Given the description of an element on the screen output the (x, y) to click on. 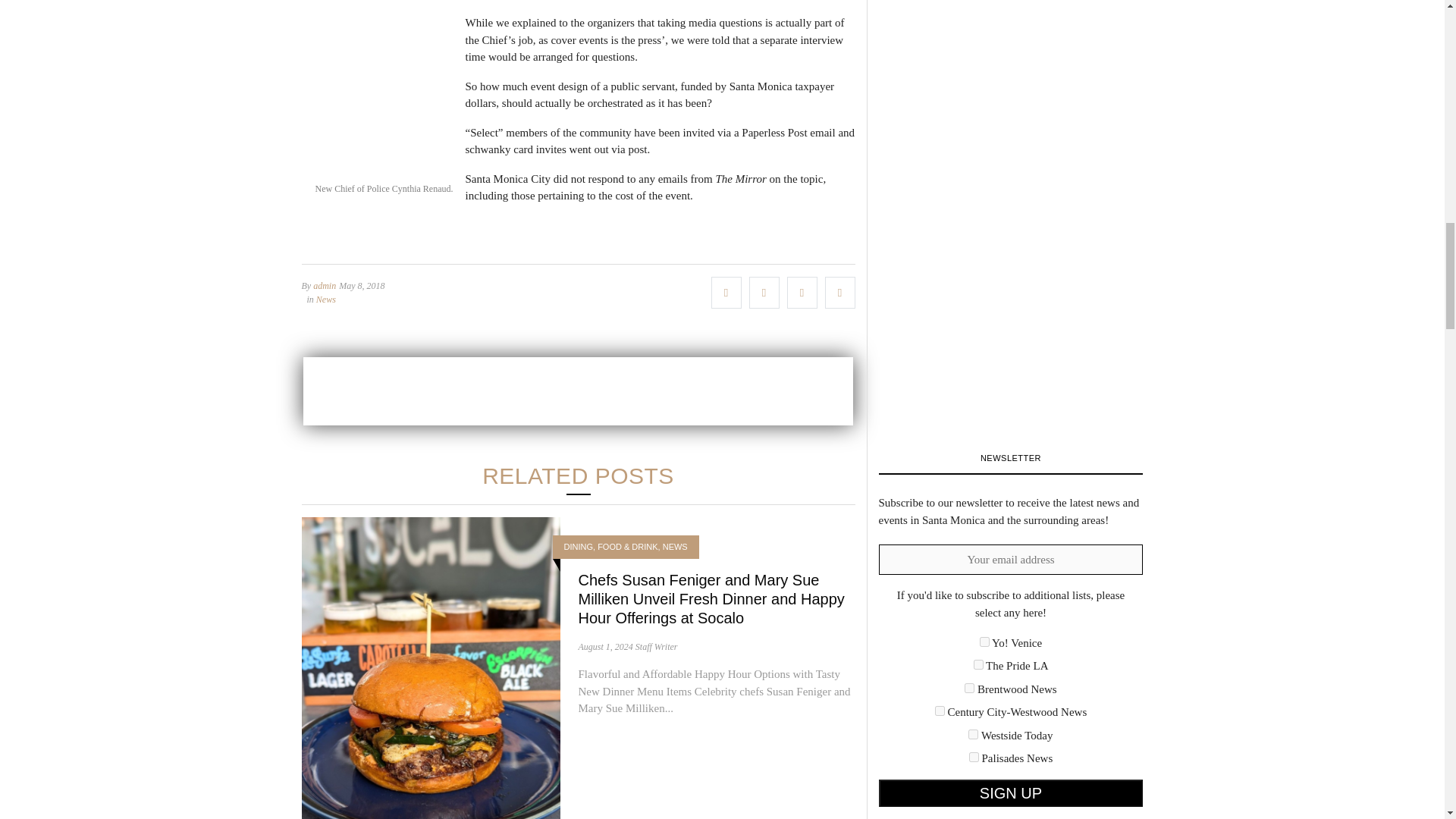
Posts by admin (324, 285)
Sign up (1009, 792)
382281a661 (968, 687)
33f79e7e4d (979, 664)
3rd party ad content (577, 391)
ec7d882848 (973, 757)
News (325, 299)
Posts by Staff Writer (656, 646)
admin (324, 285)
5fac618226 (939, 710)
a3d1b6d535 (973, 734)
2c616d28b5 (984, 642)
